Given the description of an element on the screen output the (x, y) to click on. 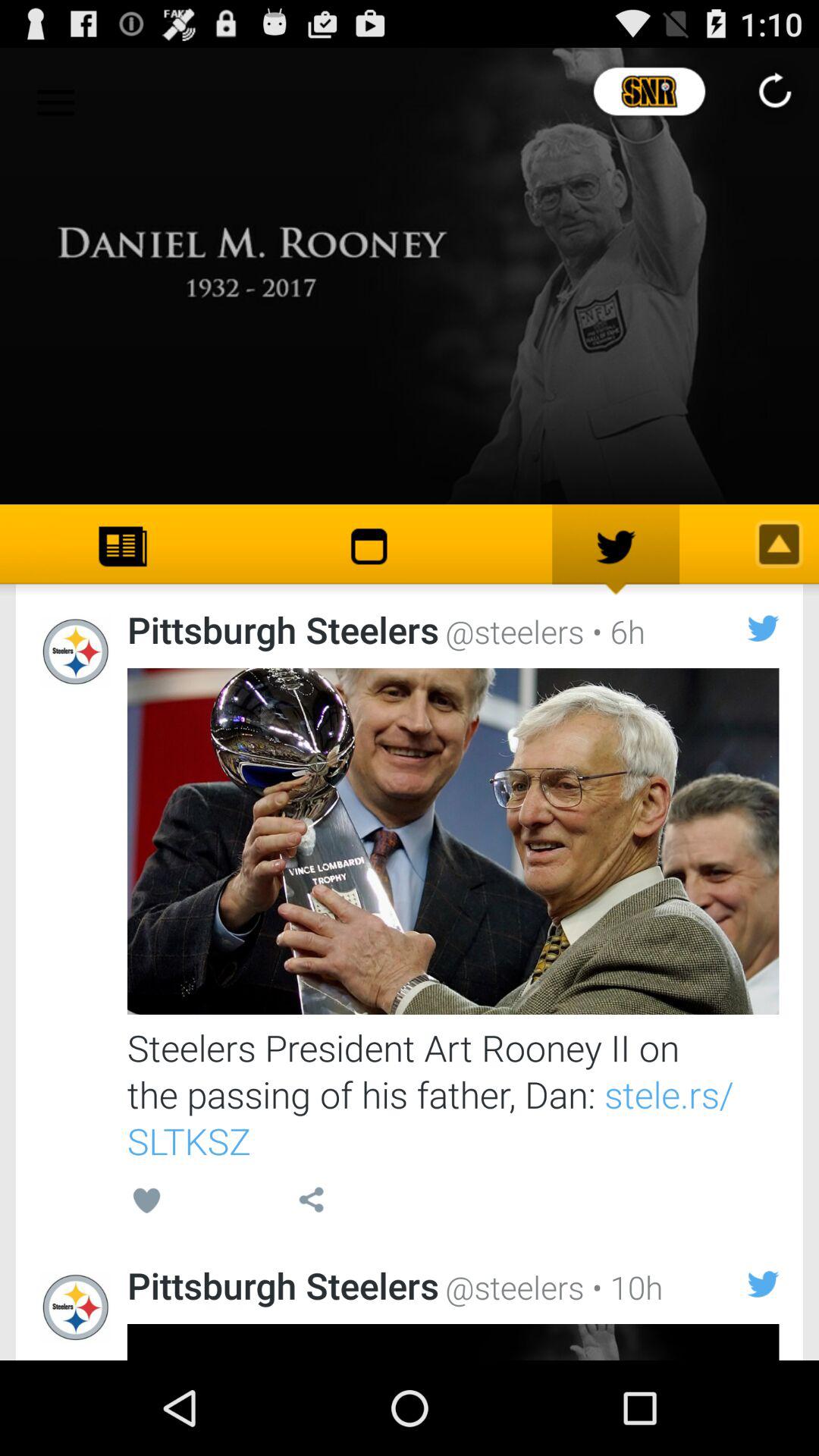
select the item below the steelers president art item (311, 1202)
